Given the description of an element on the screen output the (x, y) to click on. 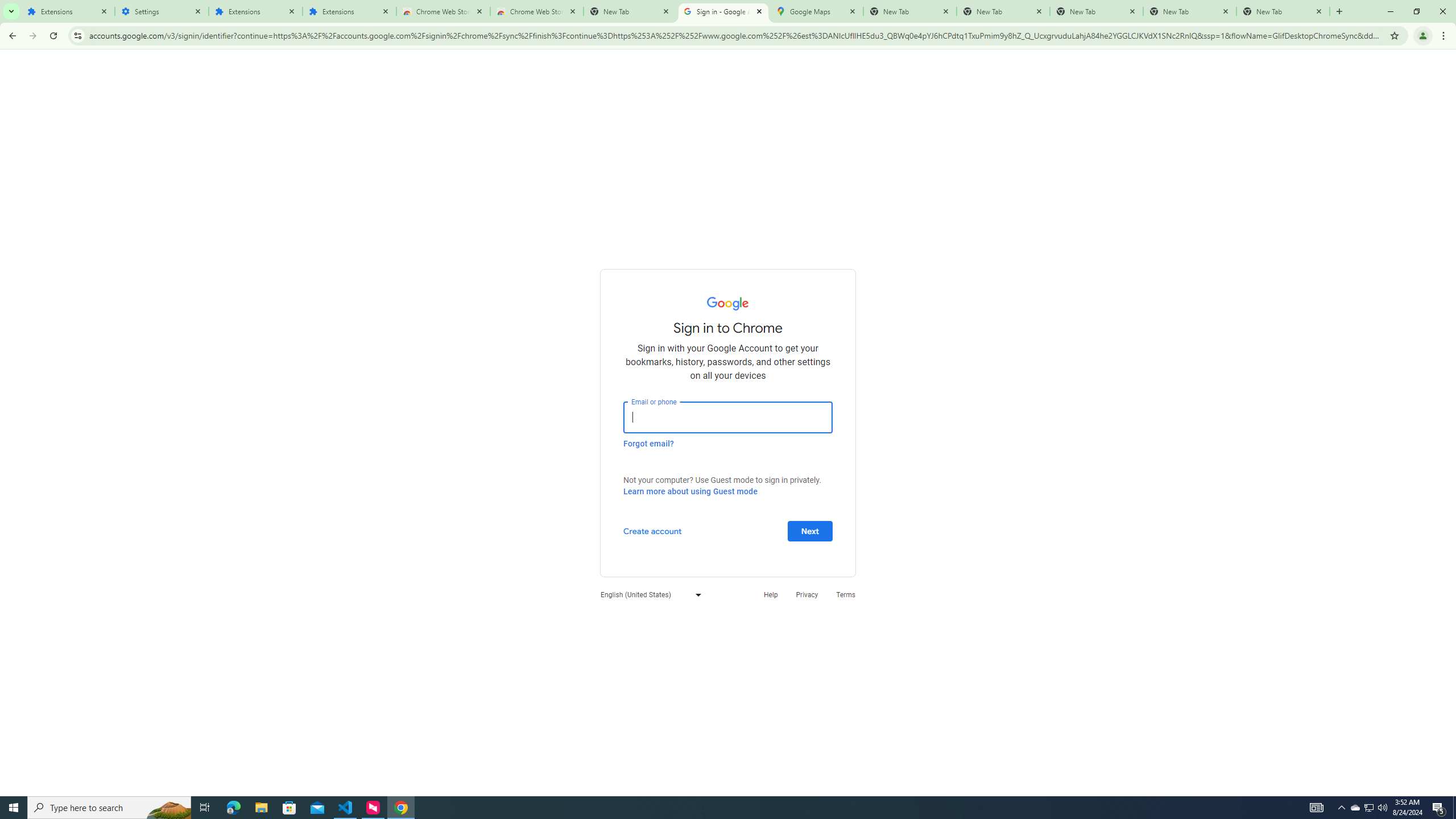
Privacy (806, 594)
Help (770, 594)
Next (809, 530)
Extensions (67, 11)
Google Maps (815, 11)
Sign in - Google Accounts (722, 11)
Settings (161, 11)
New Tab (629, 11)
